Given the description of an element on the screen output the (x, y) to click on. 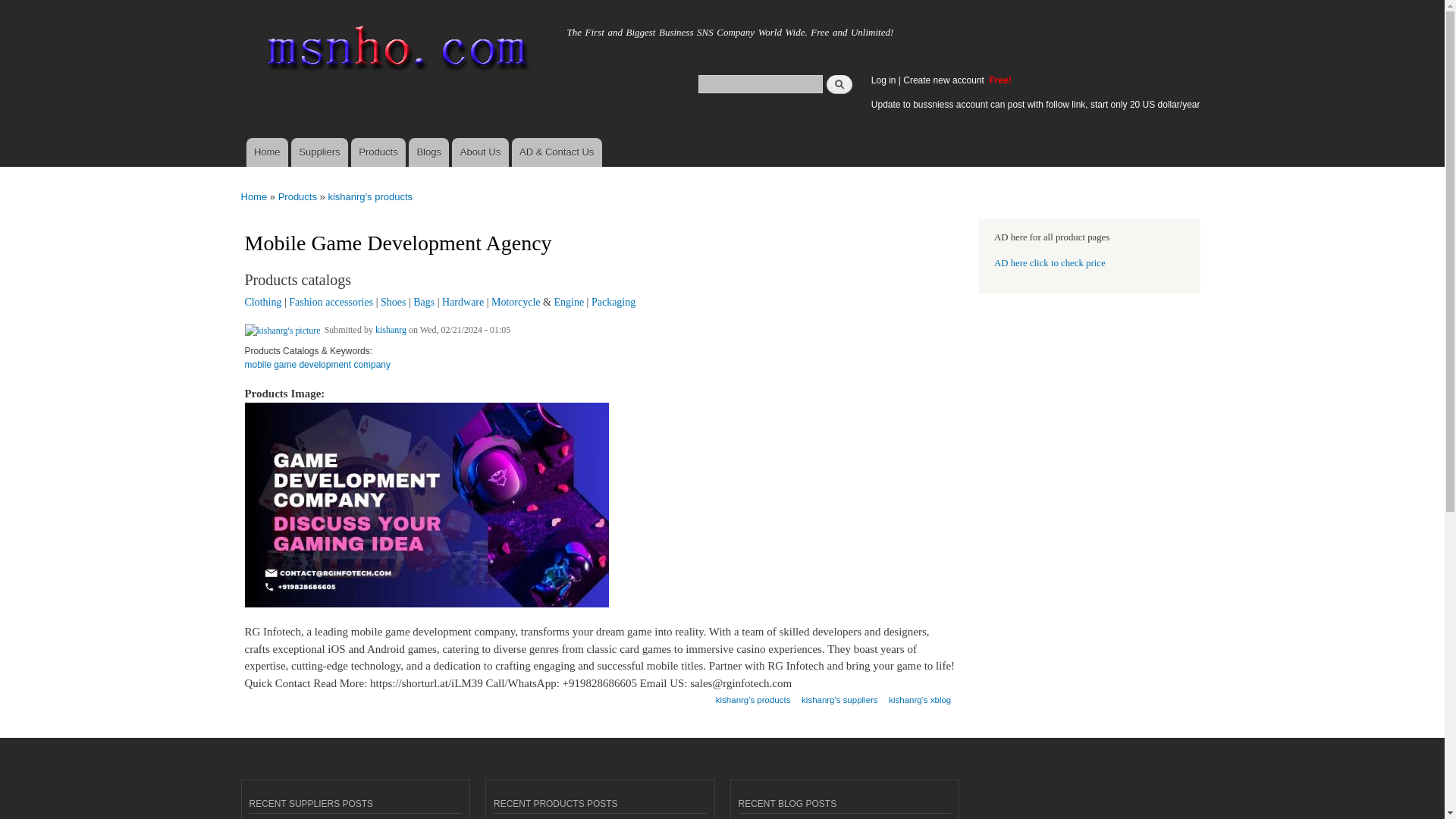
About Us (479, 152)
mobile game development company (317, 369)
Hardware (462, 301)
Packaging (612, 301)
Motorcycle (516, 301)
Contact us (557, 152)
Products (378, 152)
Create new account (944, 79)
kishanrg's picture (282, 331)
Read kishanrg's latest xblog entries. (919, 694)
